Given the description of an element on the screen output the (x, y) to click on. 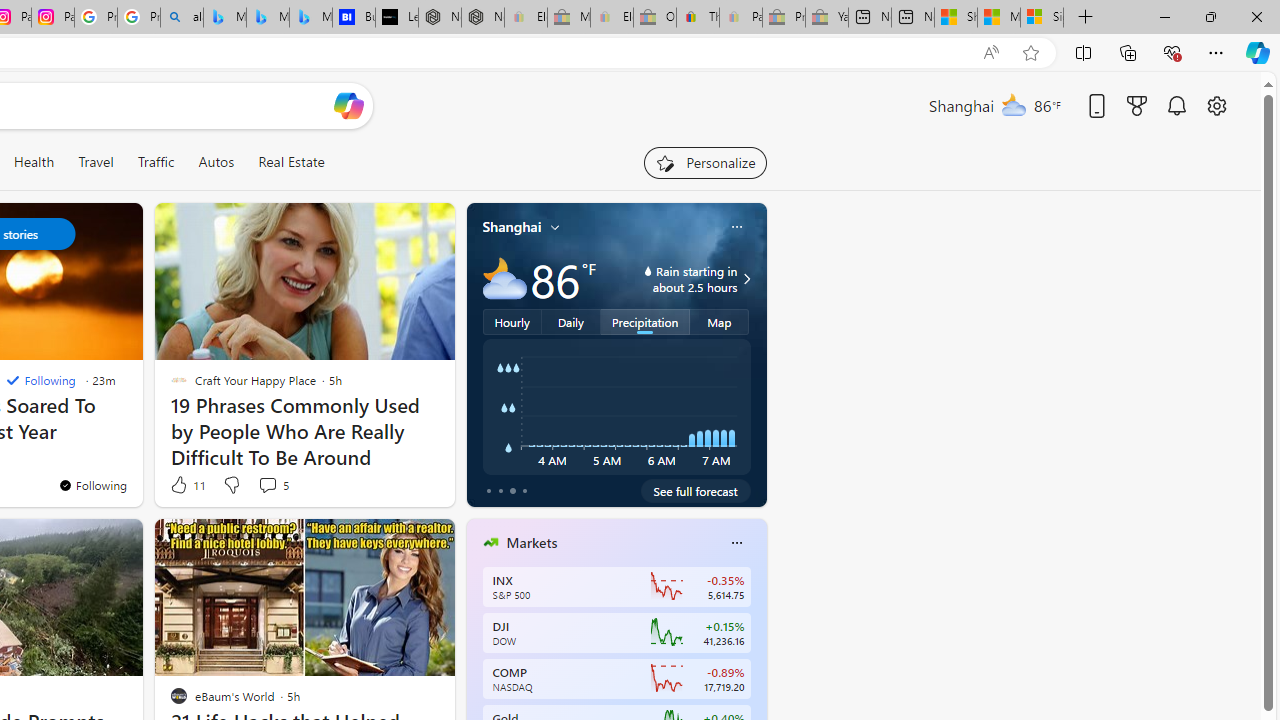
Class: weather-arrow-glyph (746, 278)
View comments 5 Comment (267, 485)
water-drop-icon (648, 270)
Press Room - eBay Inc. - Sleeping (783, 17)
My location (555, 227)
